Given the description of an element on the screen output the (x, y) to click on. 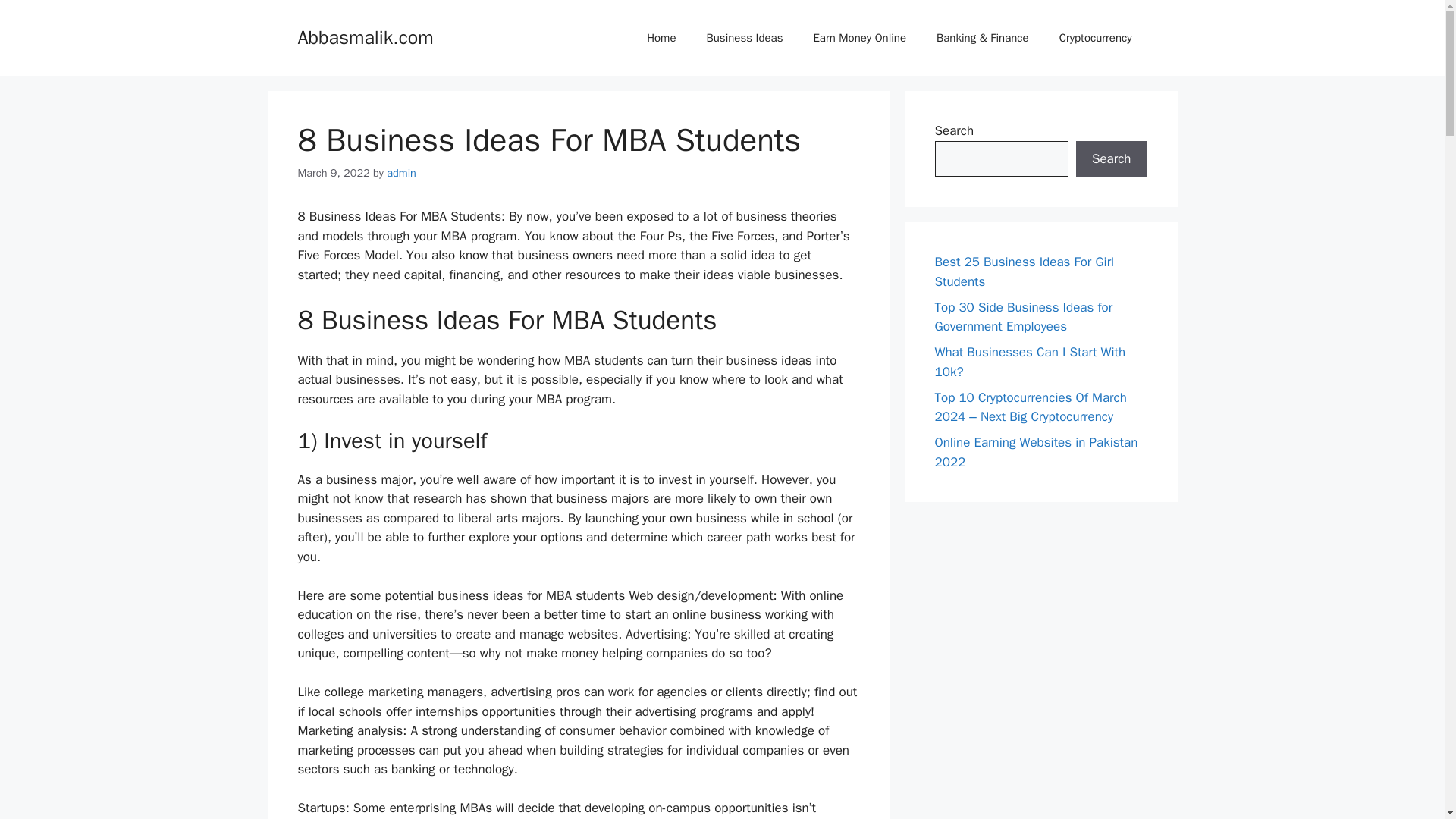
Abbasmalik.com (364, 37)
admin (401, 172)
Earn Money Online (859, 37)
Cryptocurrency (1095, 37)
Best 25 Business Ideas For Girl Students (1023, 271)
View all posts by admin (401, 172)
Online Earning Websites in Pakistan 2022 (1035, 452)
What Businesses Can I Start With 10k? (1029, 361)
Top 30 Side Business Ideas for Government Employees (1023, 316)
Search (1111, 158)
